Given the description of an element on the screen output the (x, y) to click on. 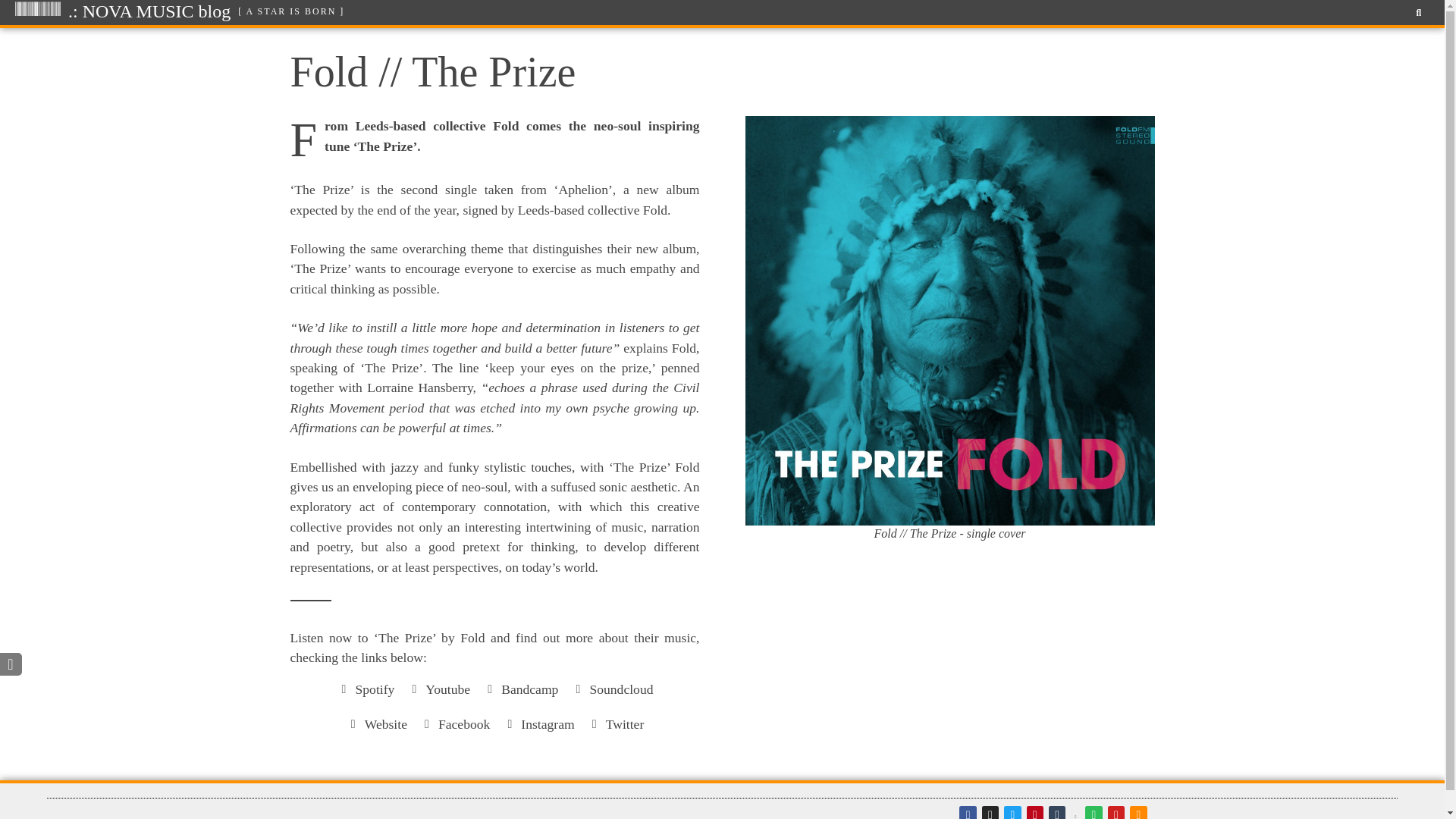
Soundcloud (611, 689)
Search (1413, 12)
Twitter (615, 723)
Bandcamp (519, 689)
.: NOVA MUSIC blog (149, 11)
Website (376, 723)
Spotify (365, 689)
Facebook (454, 723)
Youtube (438, 689)
Instagram (537, 723)
